Given the description of an element on the screen output the (x, y) to click on. 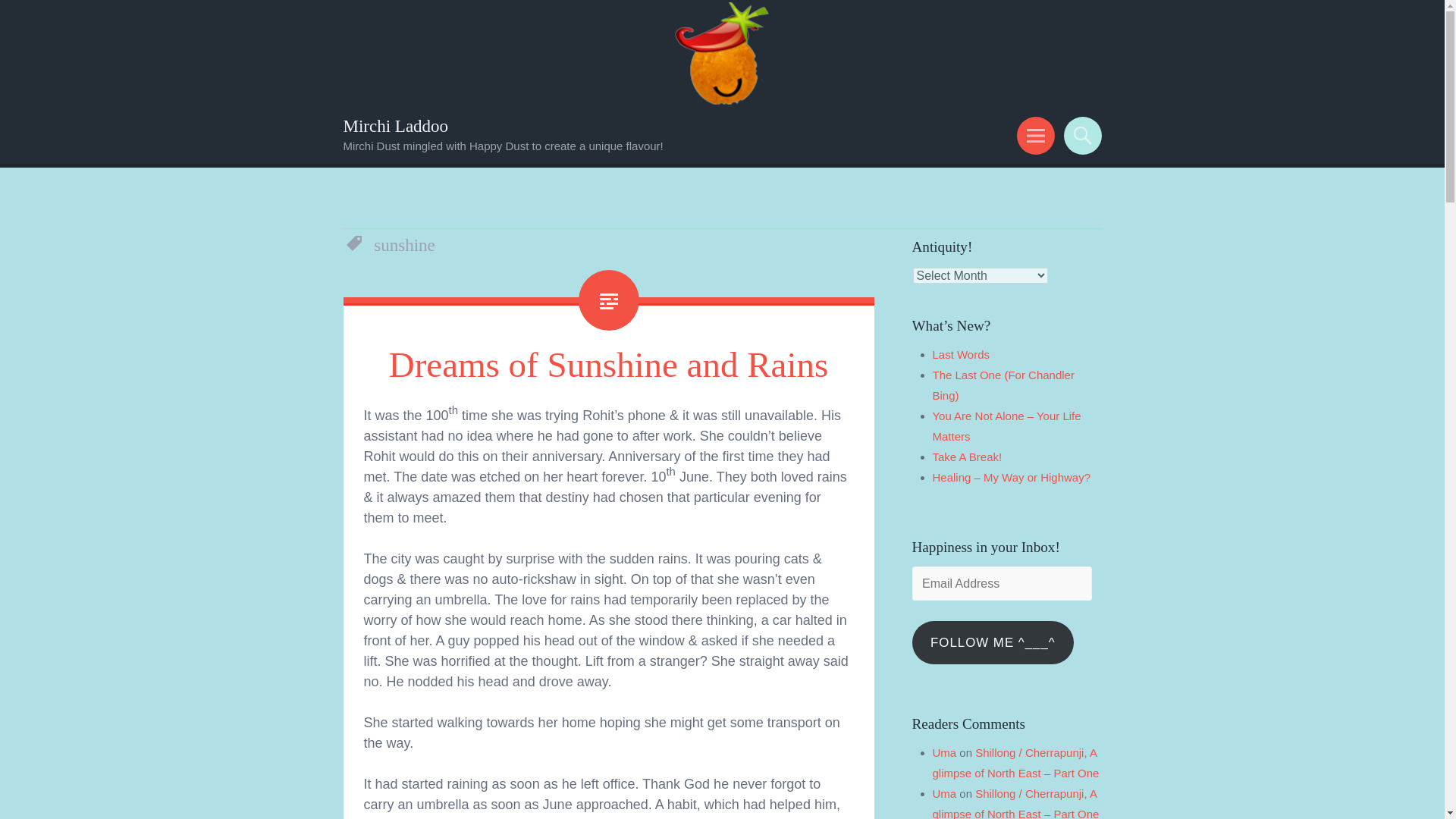
Search (1080, 135)
Dreams of Sunshine and Rains (608, 364)
Menu (1032, 135)
Mirchi Laddoo (395, 126)
